Given the description of an element on the screen output the (x, y) to click on. 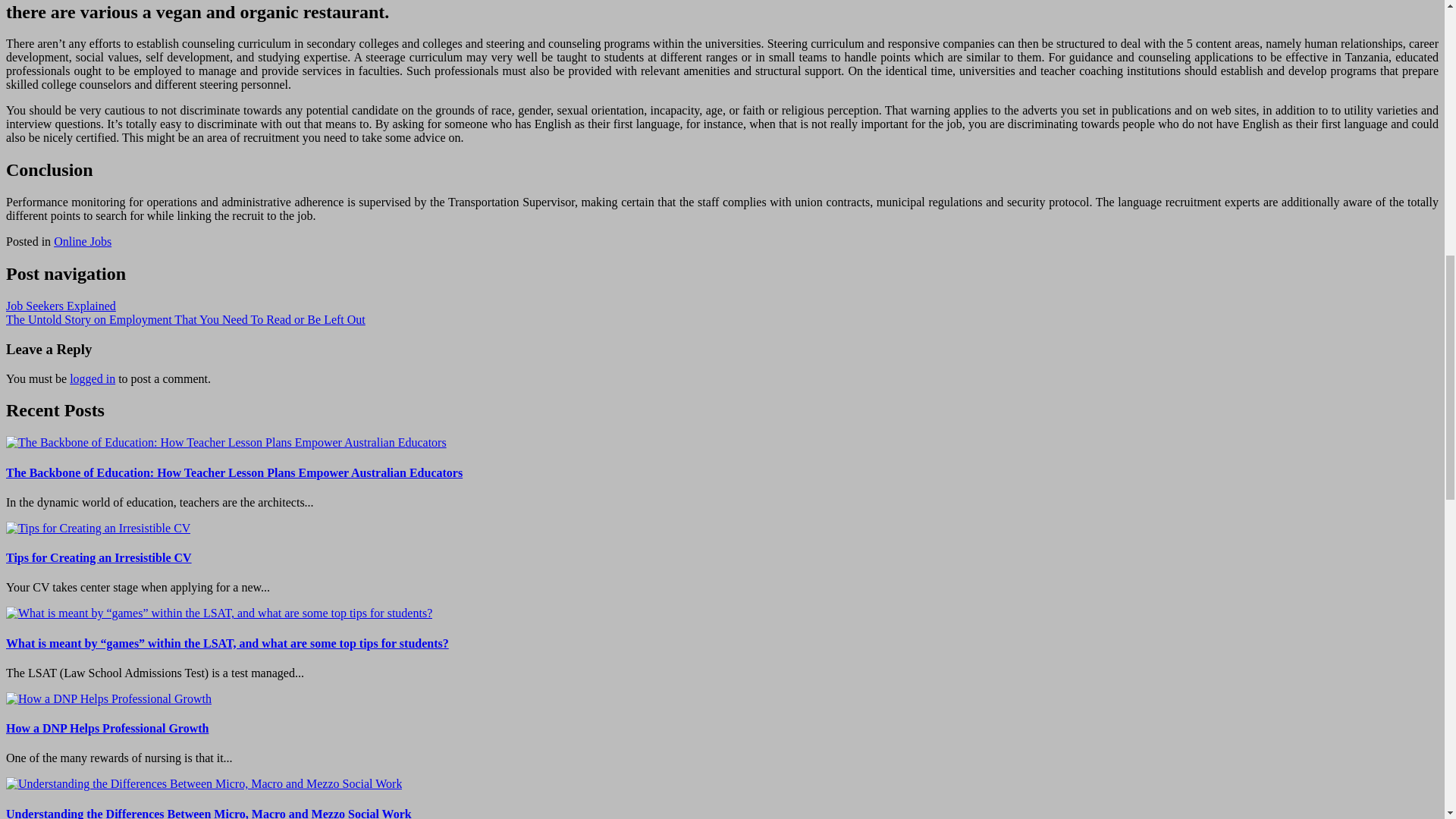
logged in (92, 377)
Online Jobs (82, 241)
How a DNP Helps Professional Growth (108, 698)
Tips for Creating an Irresistible CV (97, 528)
Job Seekers Explained (60, 305)
